Given the description of an element on the screen output the (x, y) to click on. 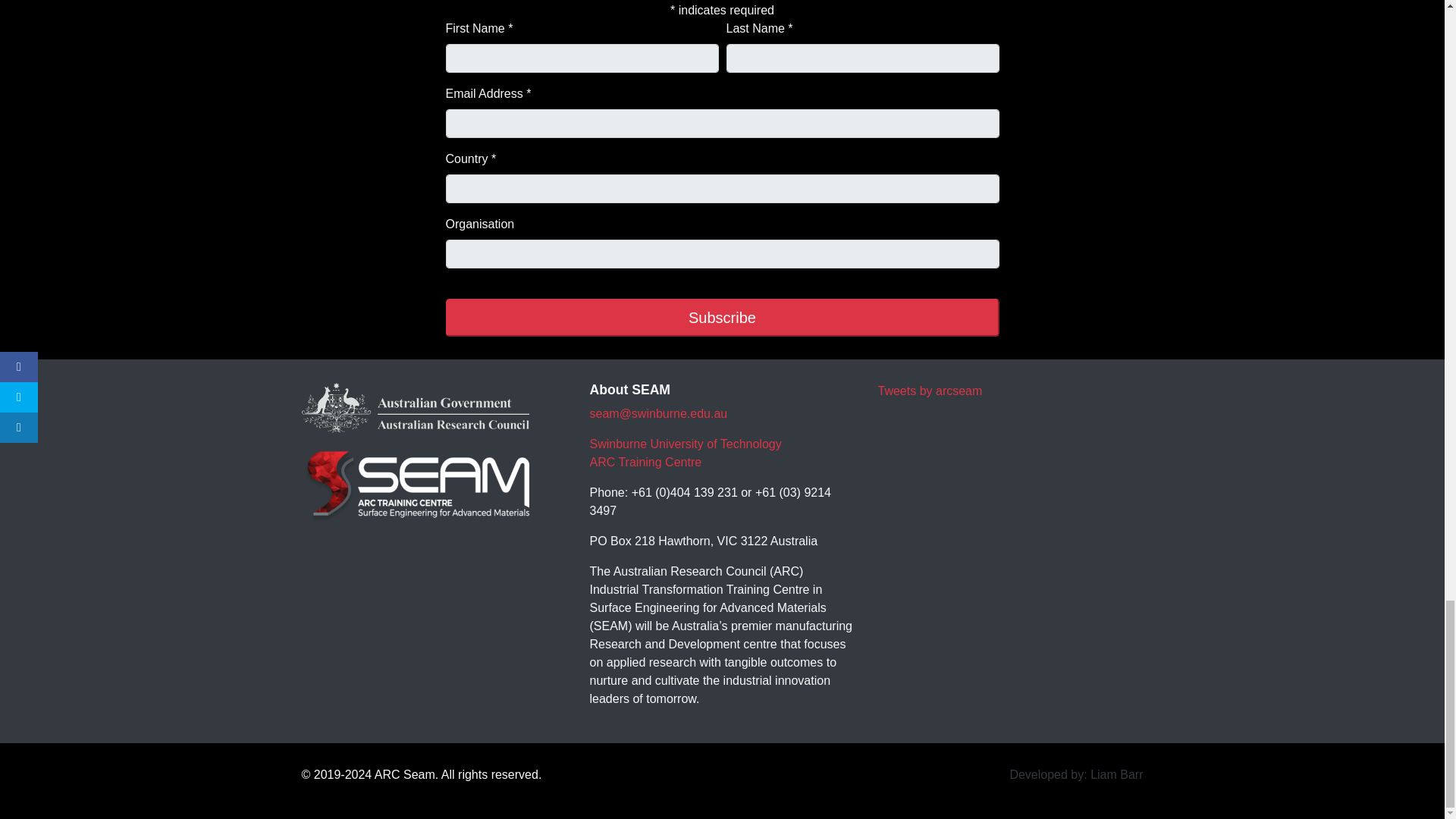
Subscribe (721, 317)
Subscribe (721, 317)
